Given the description of an element on the screen output the (x, y) to click on. 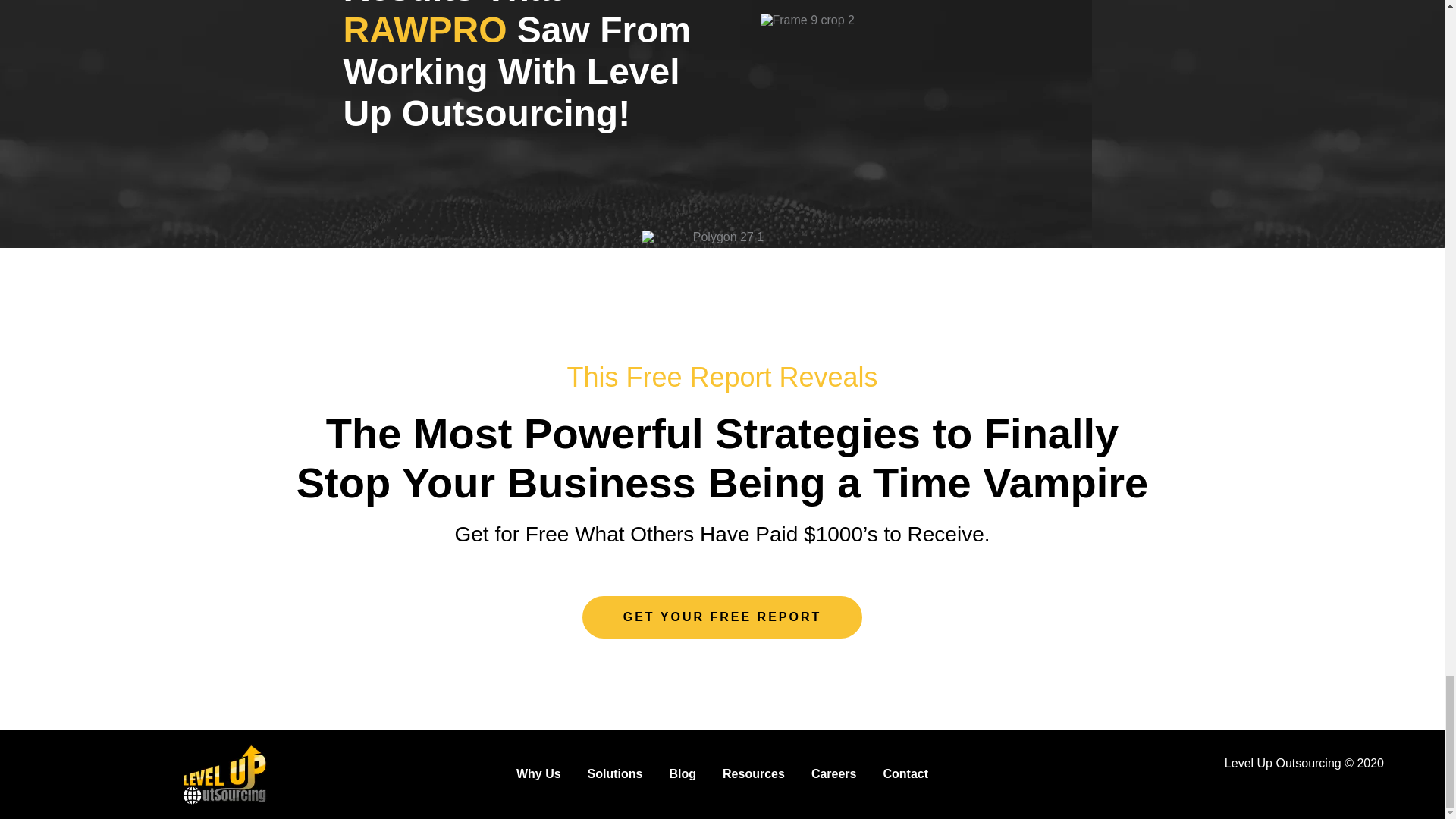
Careers (833, 773)
Resources (753, 773)
Solutions (615, 773)
Contact (905, 773)
Why Us (538, 773)
GET YOUR FREE REPORT (722, 617)
